Given the description of an element on the screen output the (x, y) to click on. 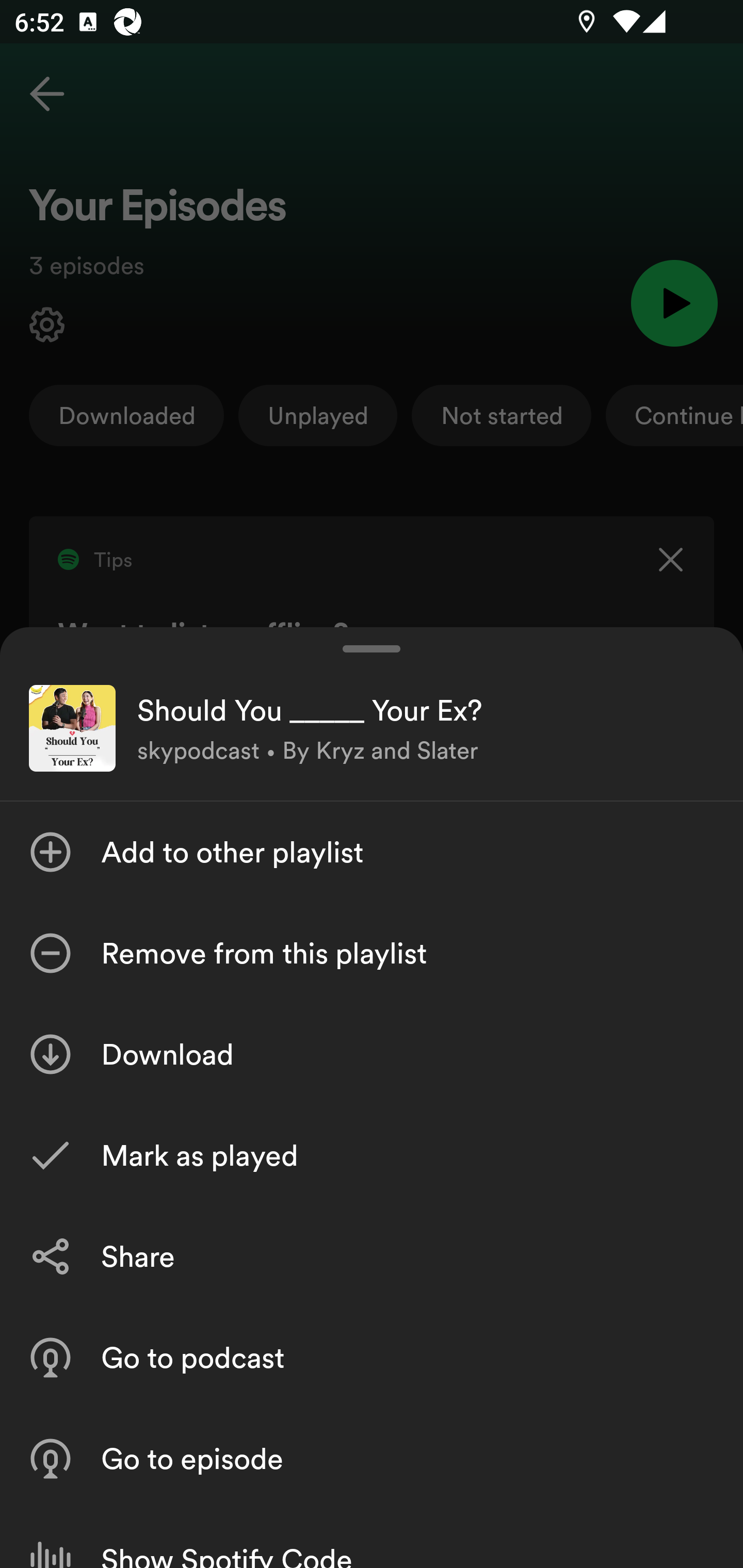
Add to other playlist (371, 852)
Remove from this playlist (371, 953)
Download (371, 1054)
Mark as played (371, 1155)
Share (371, 1256)
Go to podcast (371, 1357)
Go to episode (371, 1458)
Show Spotify Code (371, 1538)
